Given the description of an element on the screen output the (x, y) to click on. 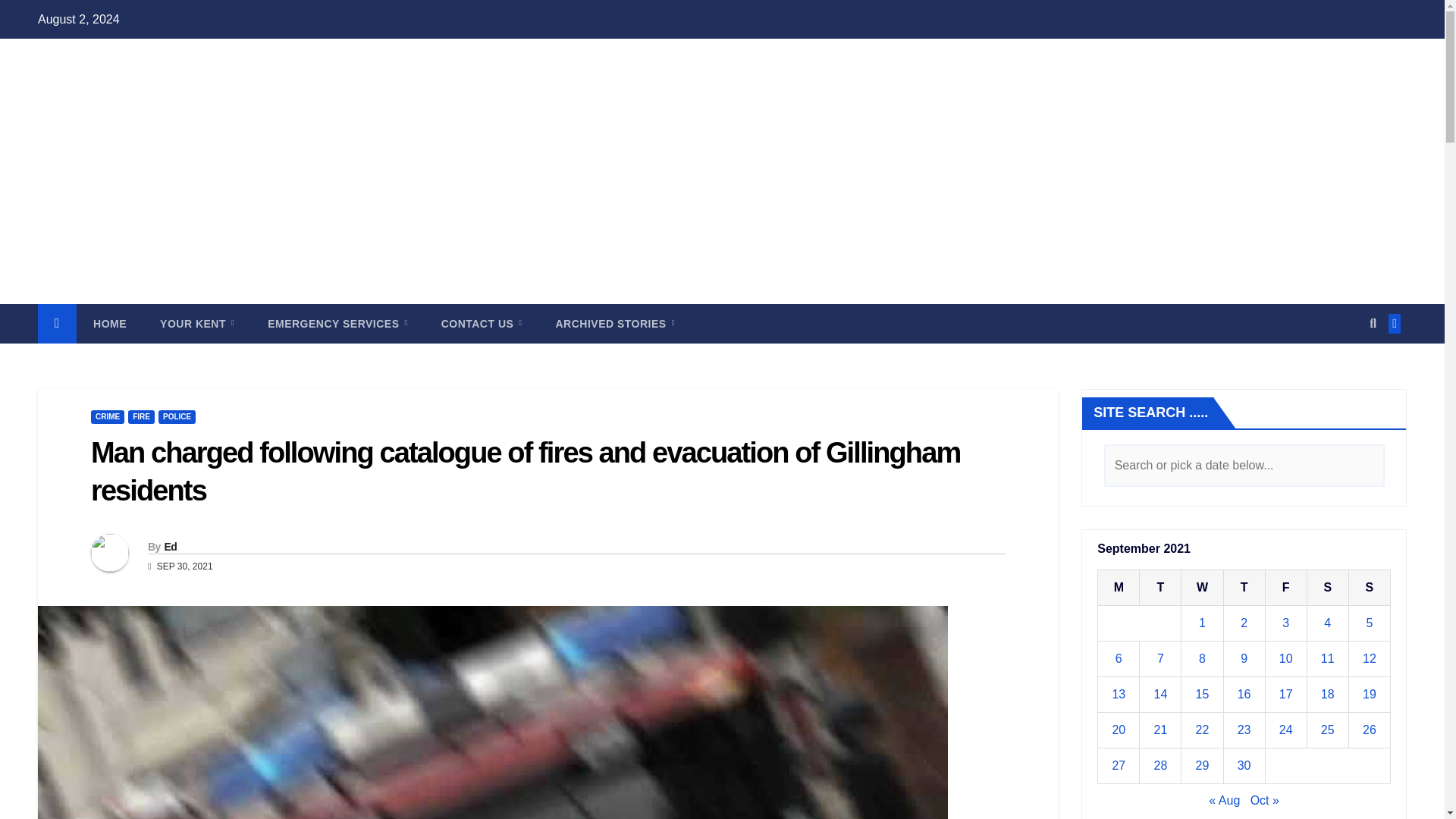
HOME (109, 323)
YOUR KENT (196, 323)
YOUR KENT (196, 323)
HOME (109, 323)
